Given the description of an element on the screen output the (x, y) to click on. 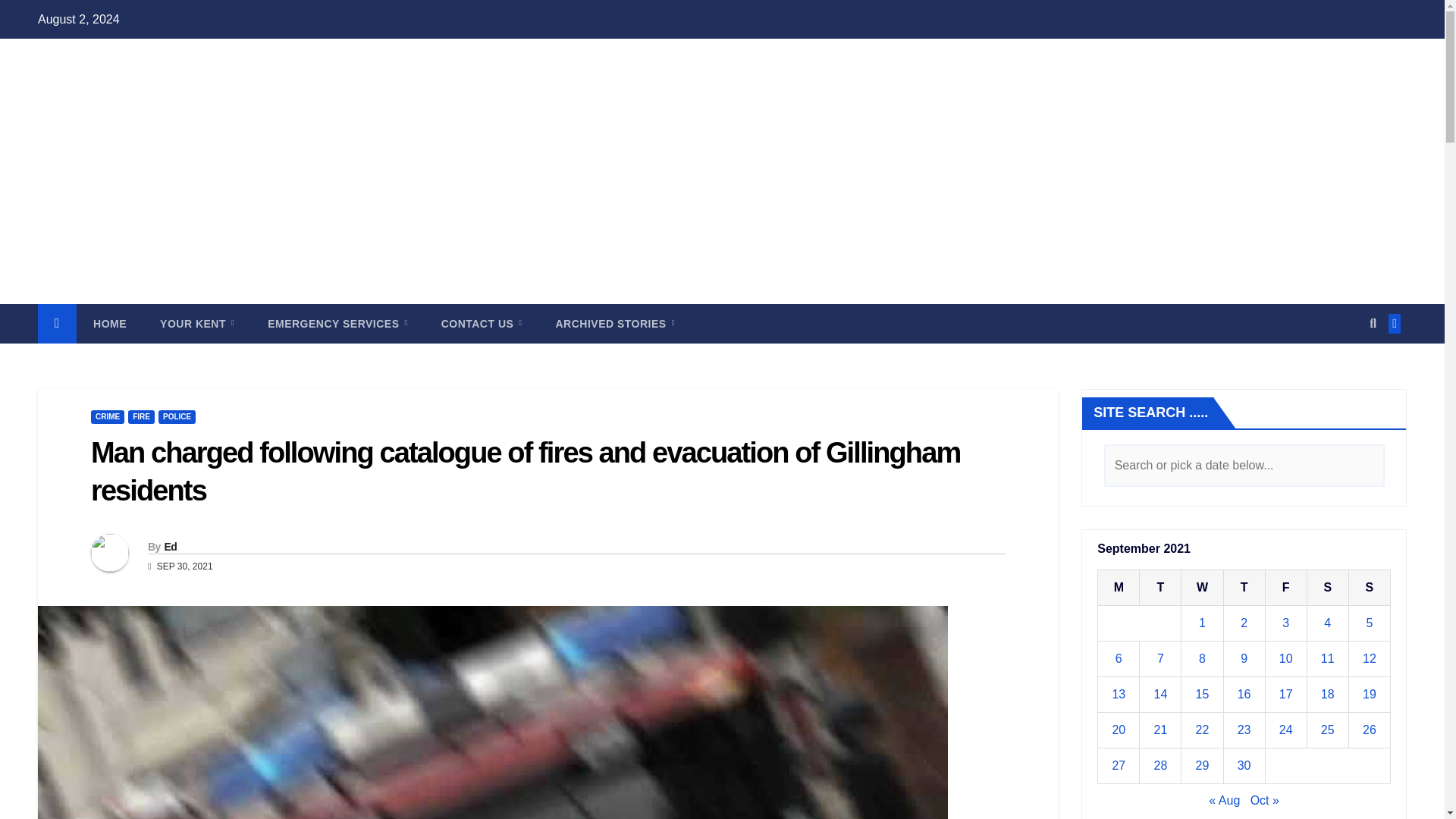
HOME (109, 323)
YOUR KENT (196, 323)
YOUR KENT (196, 323)
HOME (109, 323)
